Given the description of an element on the screen output the (x, y) to click on. 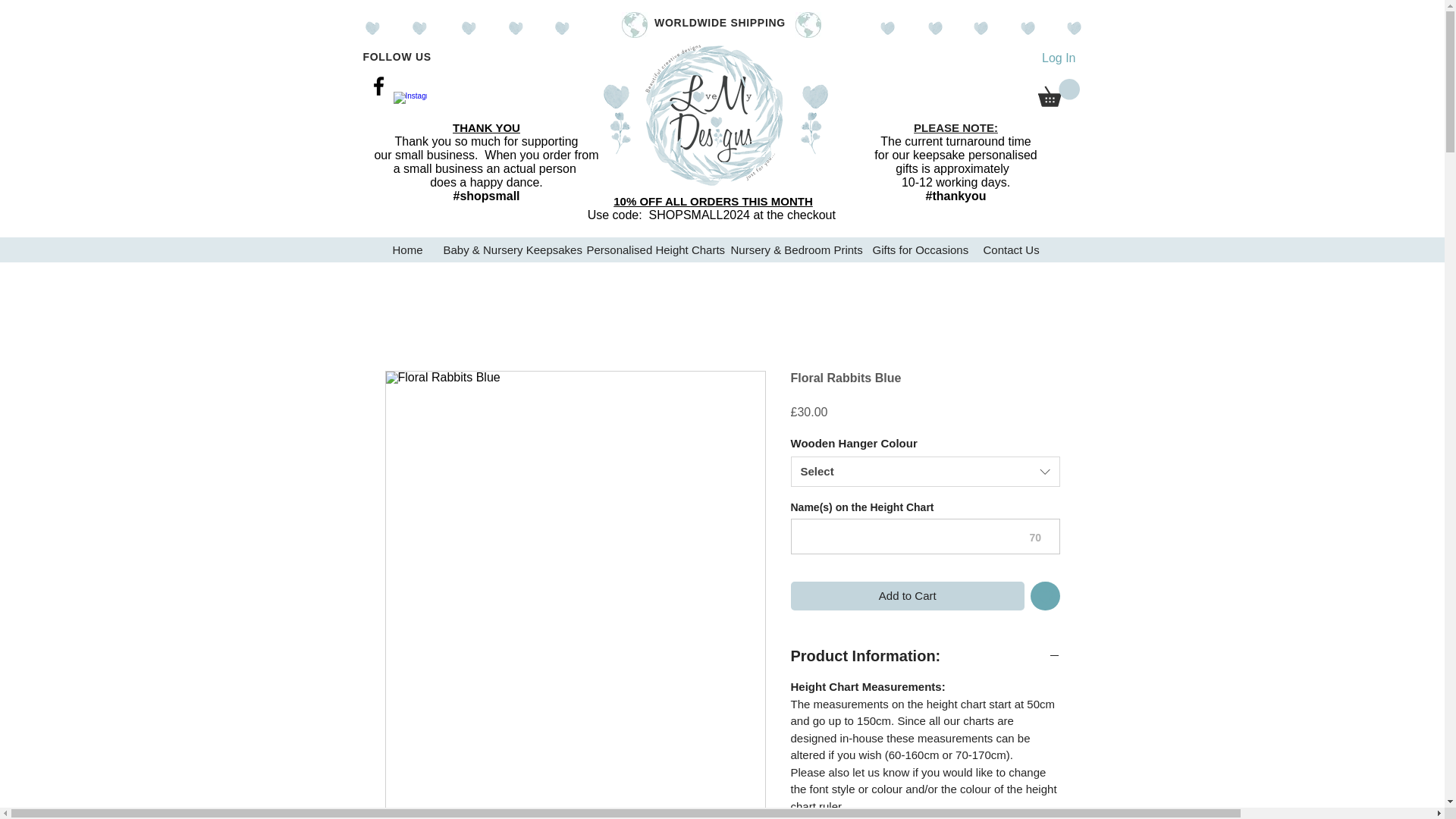
Home (405, 249)
Gifts for Occasions (915, 249)
Personalised Height Charts (647, 249)
Log In (1058, 58)
